Given the description of an element on the screen output the (x, y) to click on. 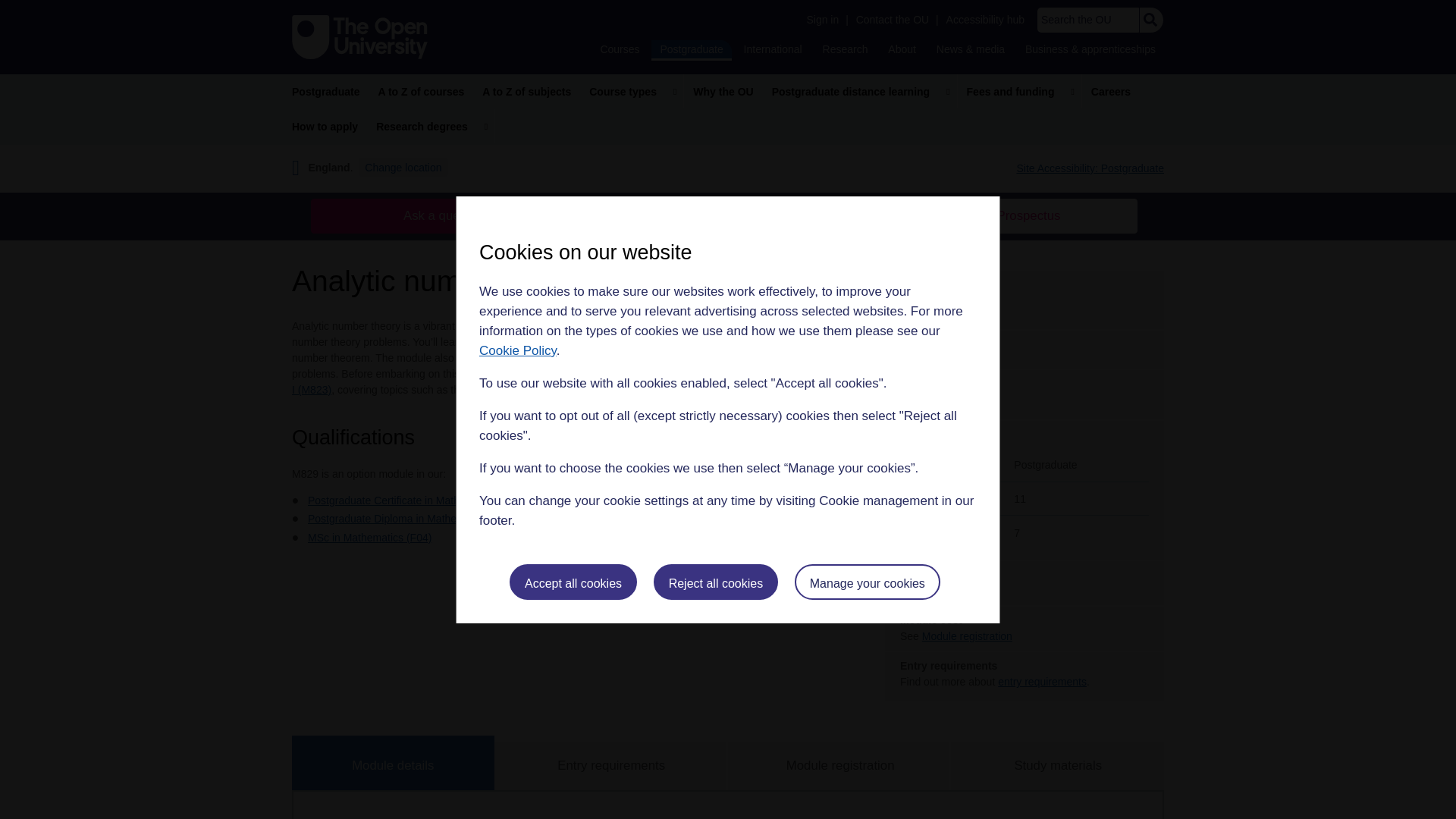
Cookie Policy (517, 350)
The Open University (360, 36)
Save location (532, 520)
Accessibility hub (985, 19)
Research (844, 49)
Show study level help (969, 436)
About (901, 49)
Postgraduate (690, 50)
Manage your cookies (867, 581)
Courses (619, 49)
